Given the description of an element on the screen output the (x, y) to click on. 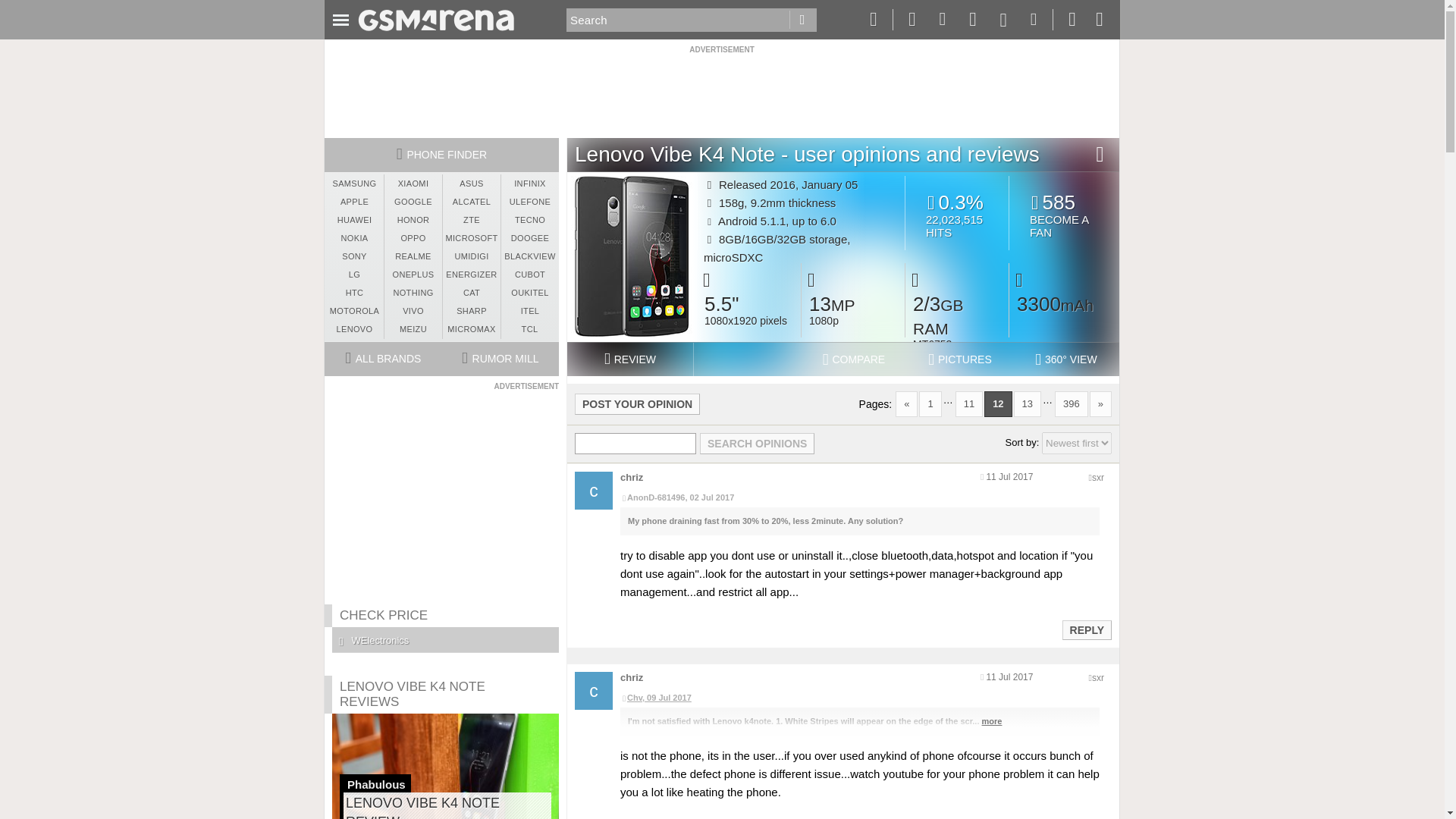
Reply to this post (1086, 630)
REVIEW (630, 359)
Go (802, 19)
POST YOUR OPINION (637, 403)
COMPARE (853, 359)
Search opinions (756, 443)
Sort comments by (1077, 443)
Go (802, 19)
Encoded anonymized location (1064, 214)
